Given the description of an element on the screen output the (x, y) to click on. 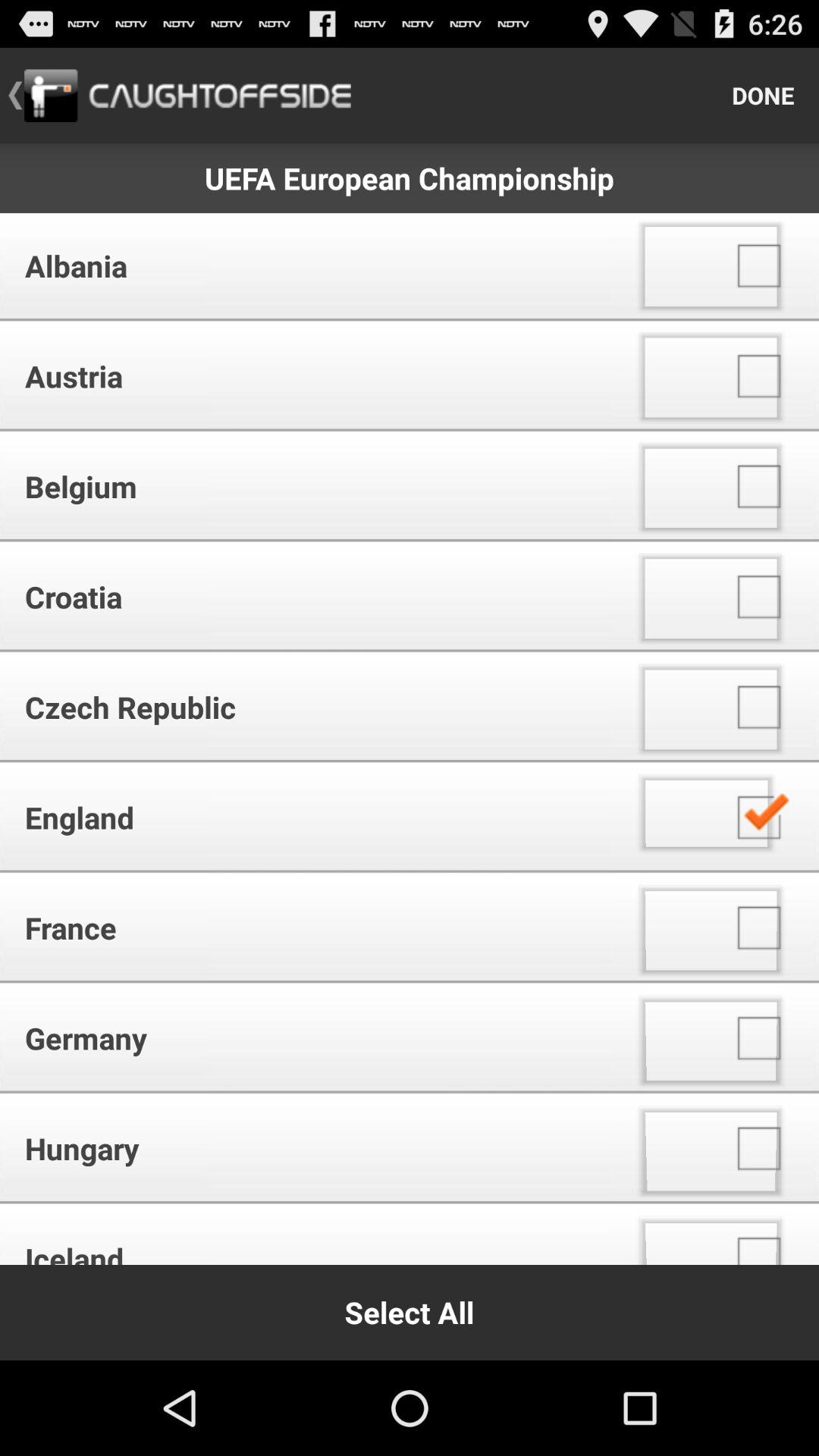
turn off the icon below austria app (311, 486)
